Given the description of an element on the screen output the (x, y) to click on. 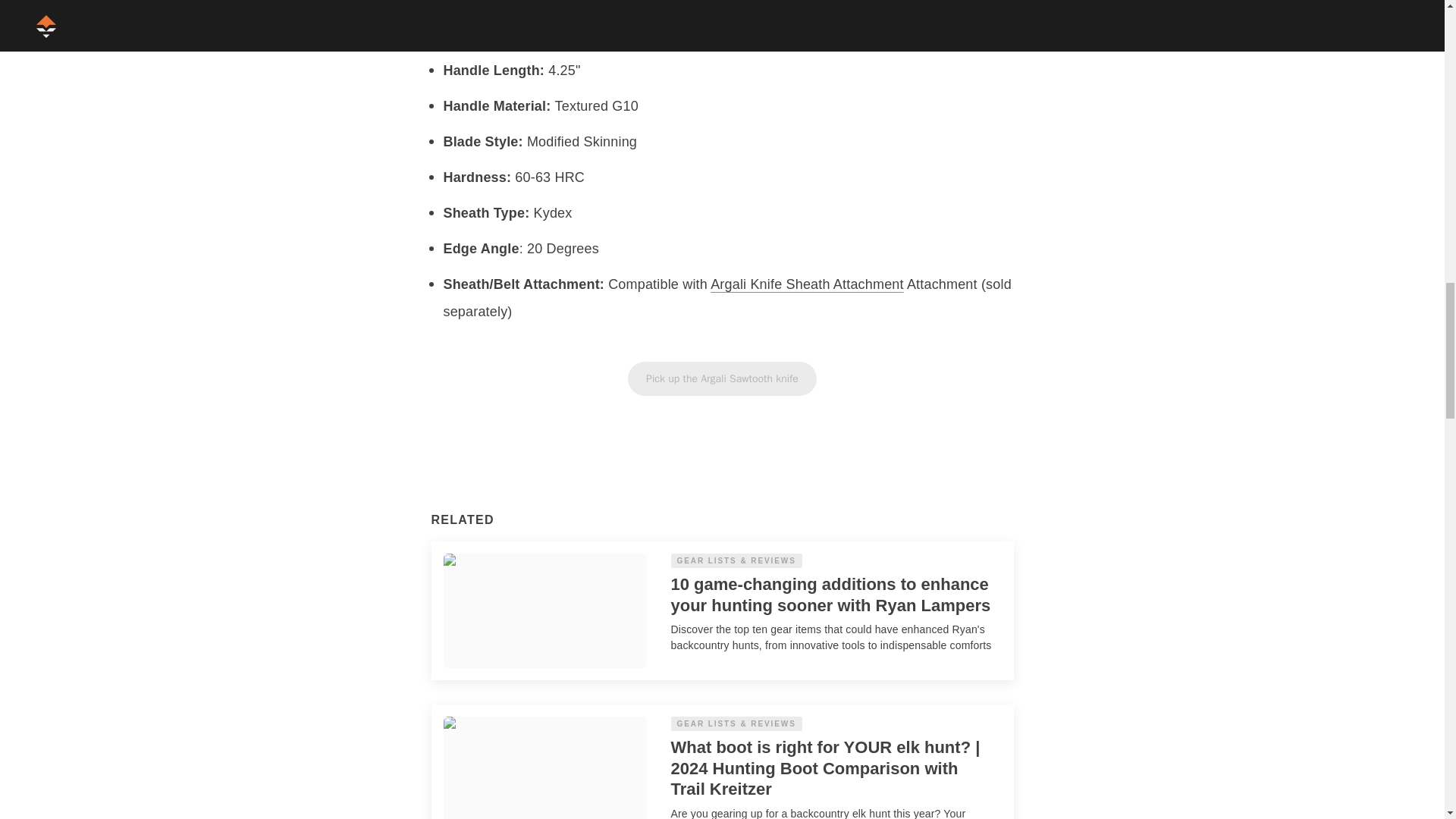
Pick up the Argali Sawtooth knife (721, 378)
Argali Knife Sheath Attachment (807, 283)
